Given the description of an element on the screen output the (x, y) to click on. 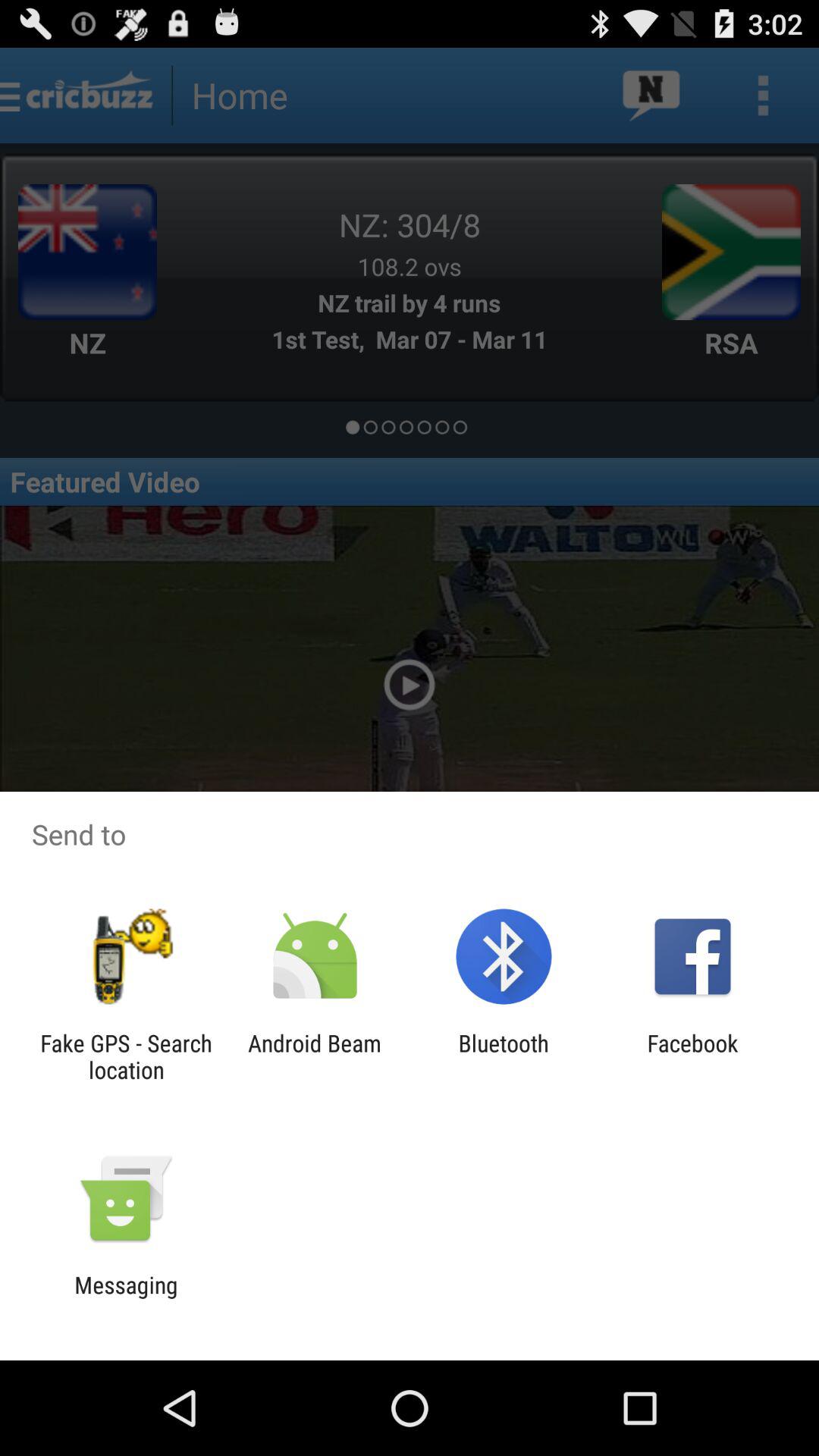
turn off the fake gps search item (125, 1056)
